Given the description of an element on the screen output the (x, y) to click on. 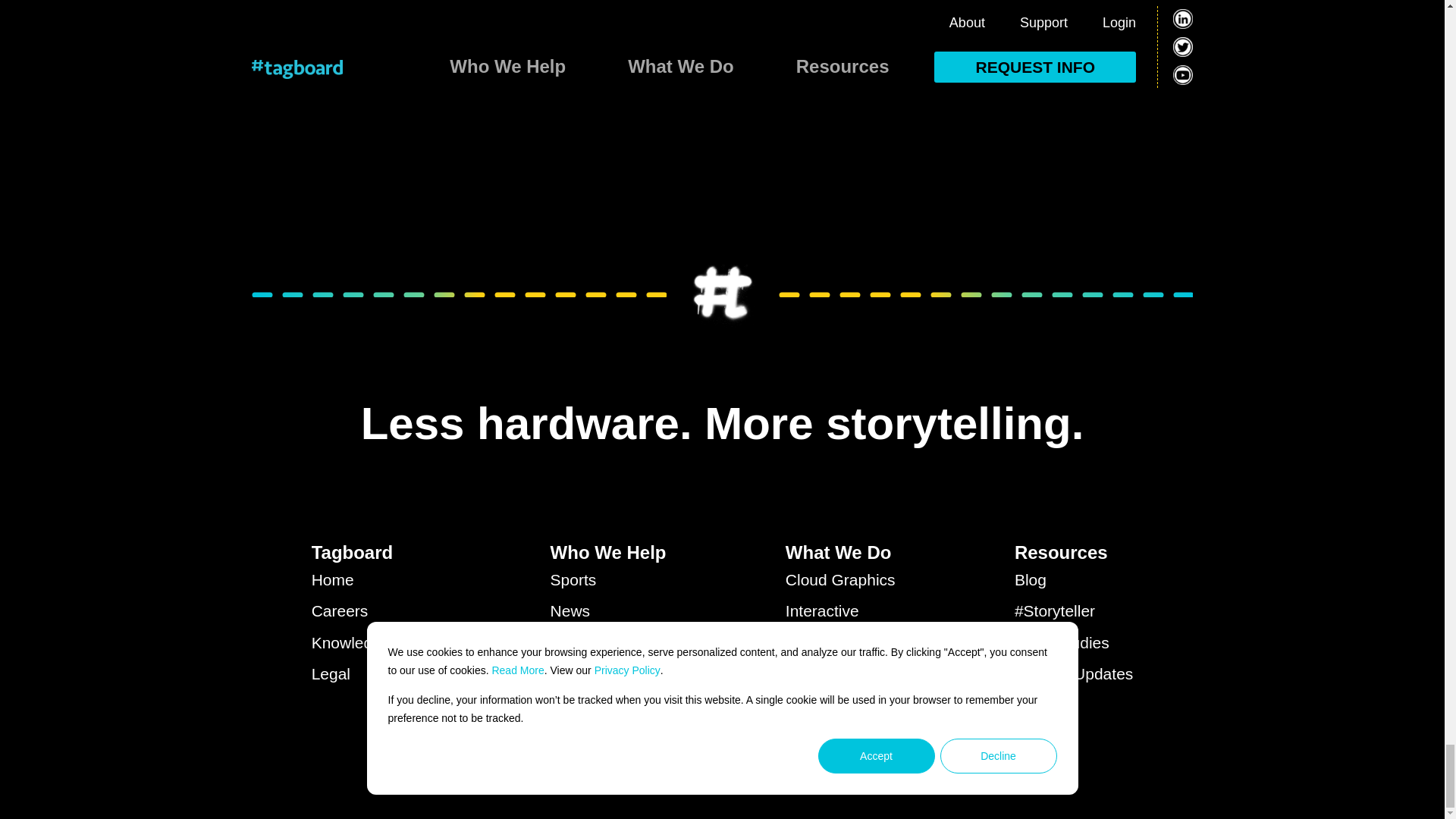
Home (370, 580)
Careers (370, 611)
